Given the description of an element on the screen output the (x, y) to click on. 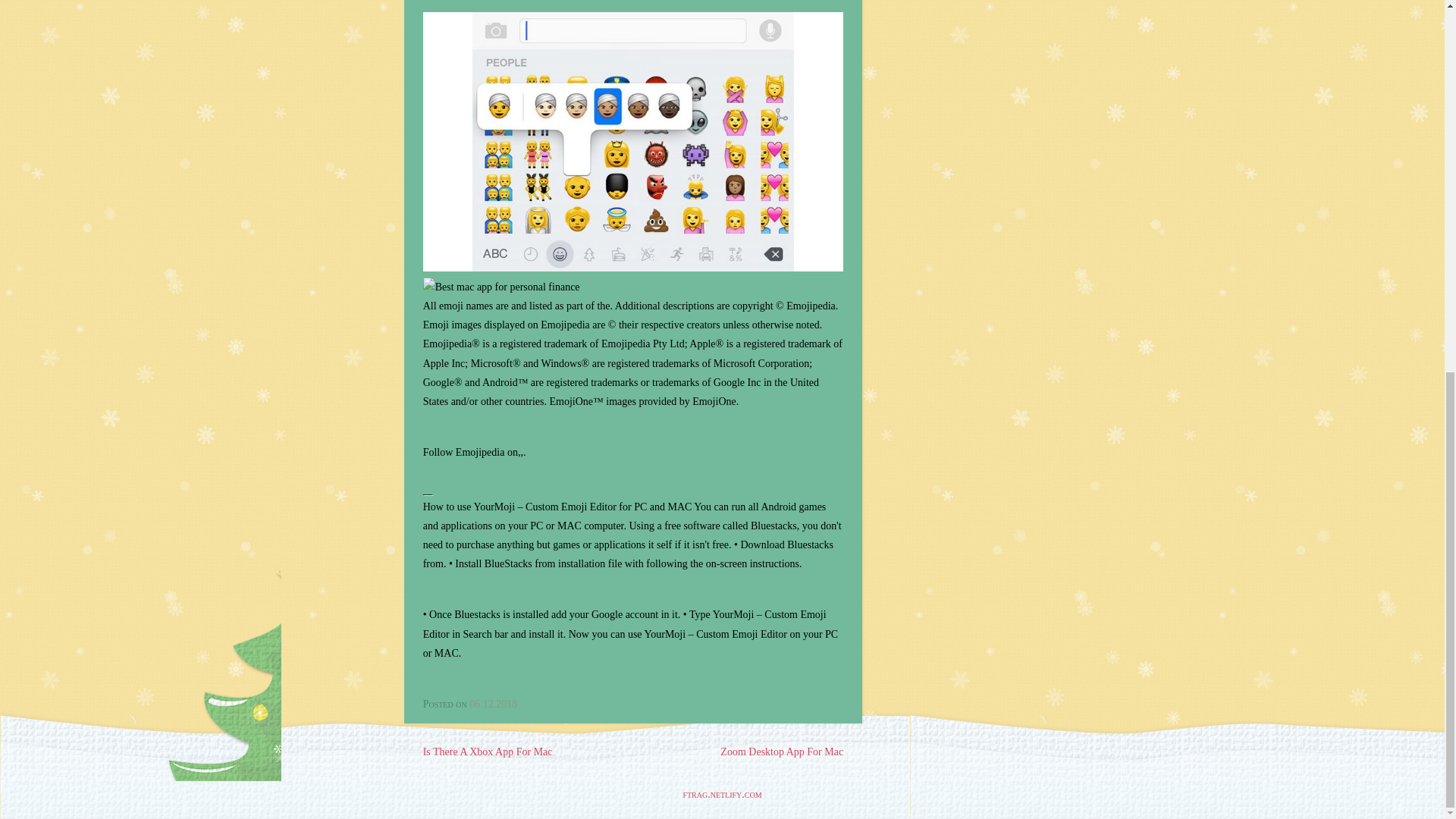
06.12.2018 (492, 704)
ftrag.netlify.com (721, 794)
Best mac app for personal finance (501, 286)
Best Mac App For Custom Emojis (633, 141)
Zoom Desktop App For Mac (781, 751)
Is There A Xbox App For Mac (488, 751)
11:01 (492, 704)
